Given the description of an element on the screen output the (x, y) to click on. 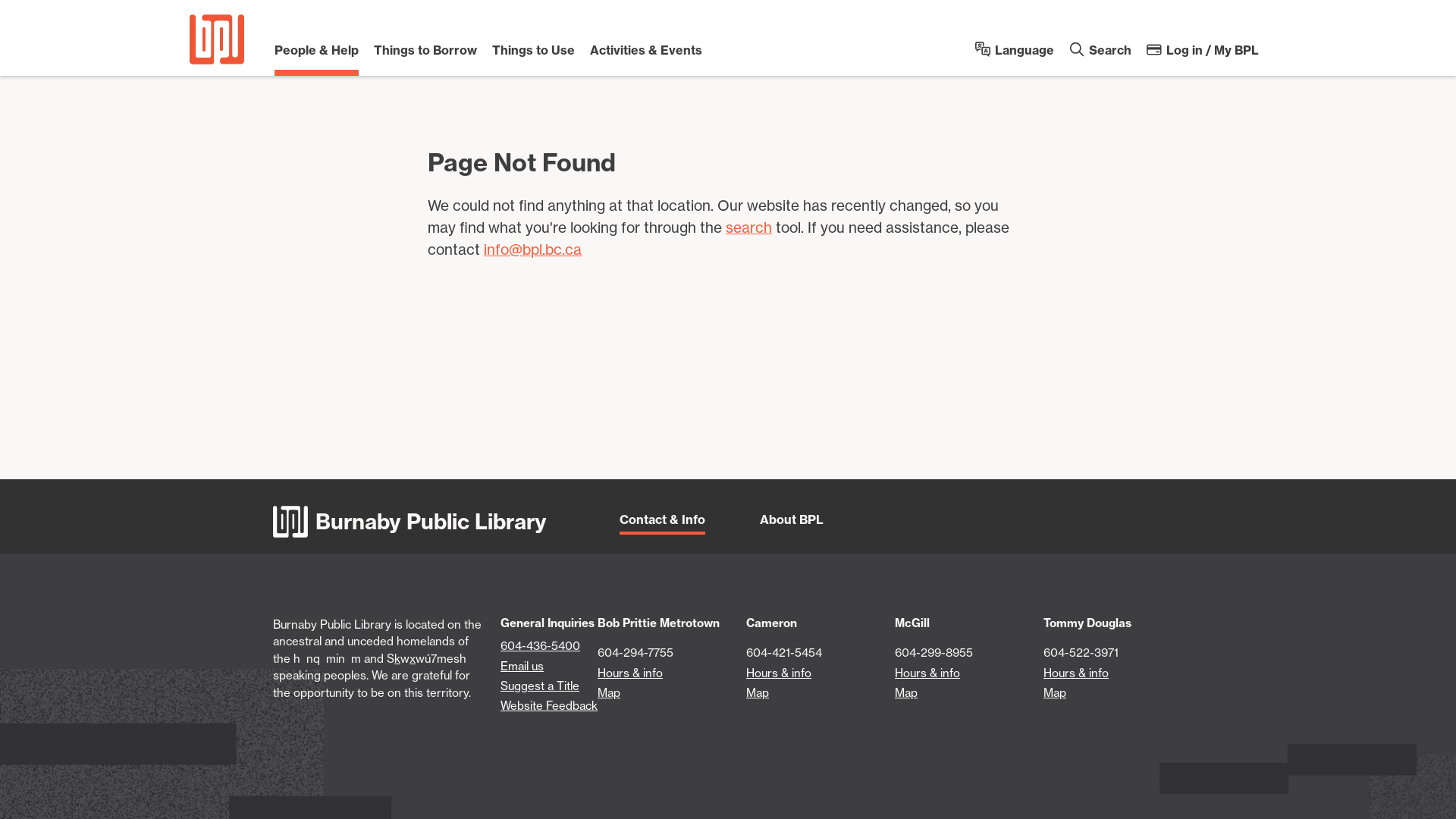
Map Element type: text (608, 692)
People & Help Element type: text (316, 56)
Burnaby Public Library Element type: text (409, 521)
Email us Element type: text (521, 665)
Map Element type: text (1054, 692)
Search Element type: text (1100, 54)
Things to Use Element type: text (533, 56)
Suggest a Title Element type: text (539, 685)
Hours & info Element type: text (927, 672)
info@bpl.bc.ca Element type: text (532, 249)
Activities & Events Element type: text (645, 56)
search Element type: text (748, 227)
Map Element type: text (905, 692)
Hours & info Element type: text (629, 672)
Hours & info Element type: text (778, 672)
Website Feedback Element type: text (548, 705)
Burnaby Public Library Element type: text (216, 39)
Log in / My BPL Element type: text (1202, 54)
Hours & info Element type: text (1075, 672)
Language Element type: text (1014, 54)
604-436-5400 Element type: text (540, 645)
Map Element type: text (757, 692)
Things to Borrow Element type: text (424, 56)
